Given the description of an element on the screen output the (x, y) to click on. 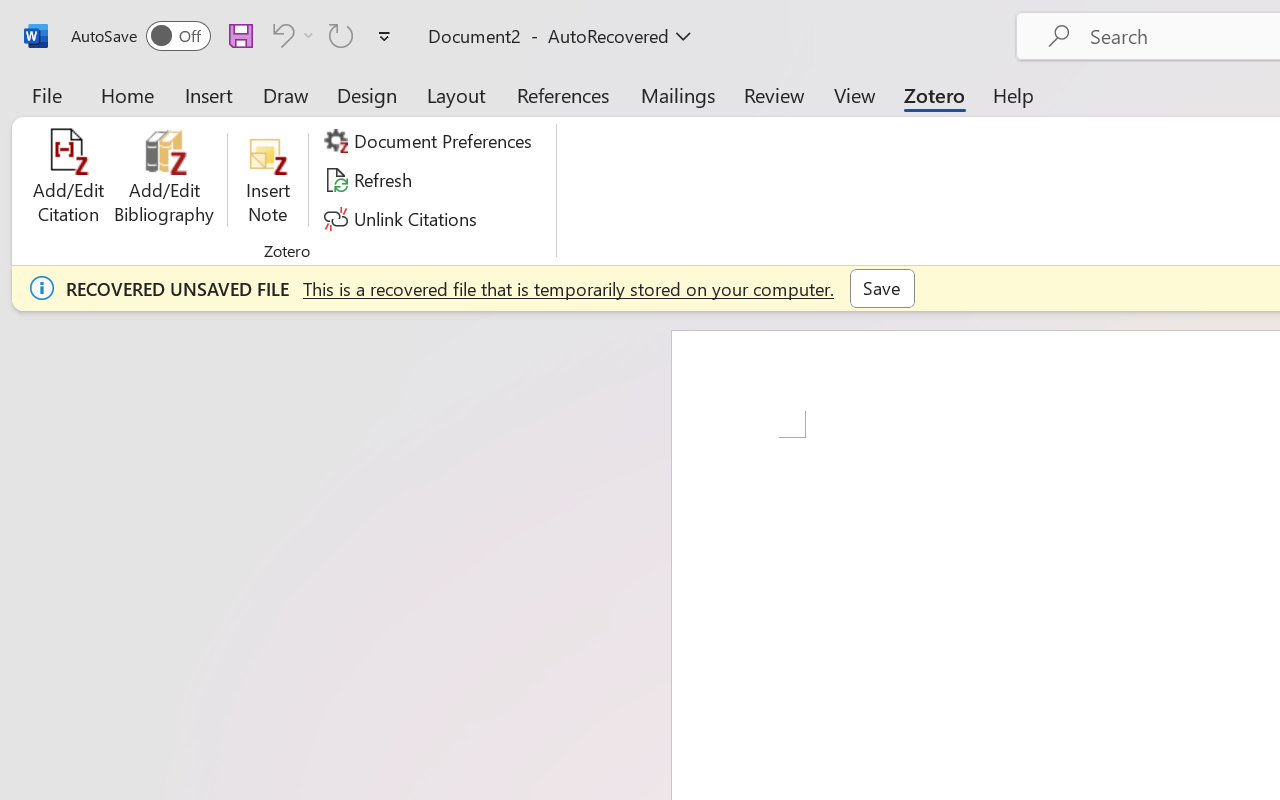
Help (1013, 94)
Document Preferences (431, 141)
Insert Note (267, 179)
